Given the description of an element on the screen output the (x, y) to click on. 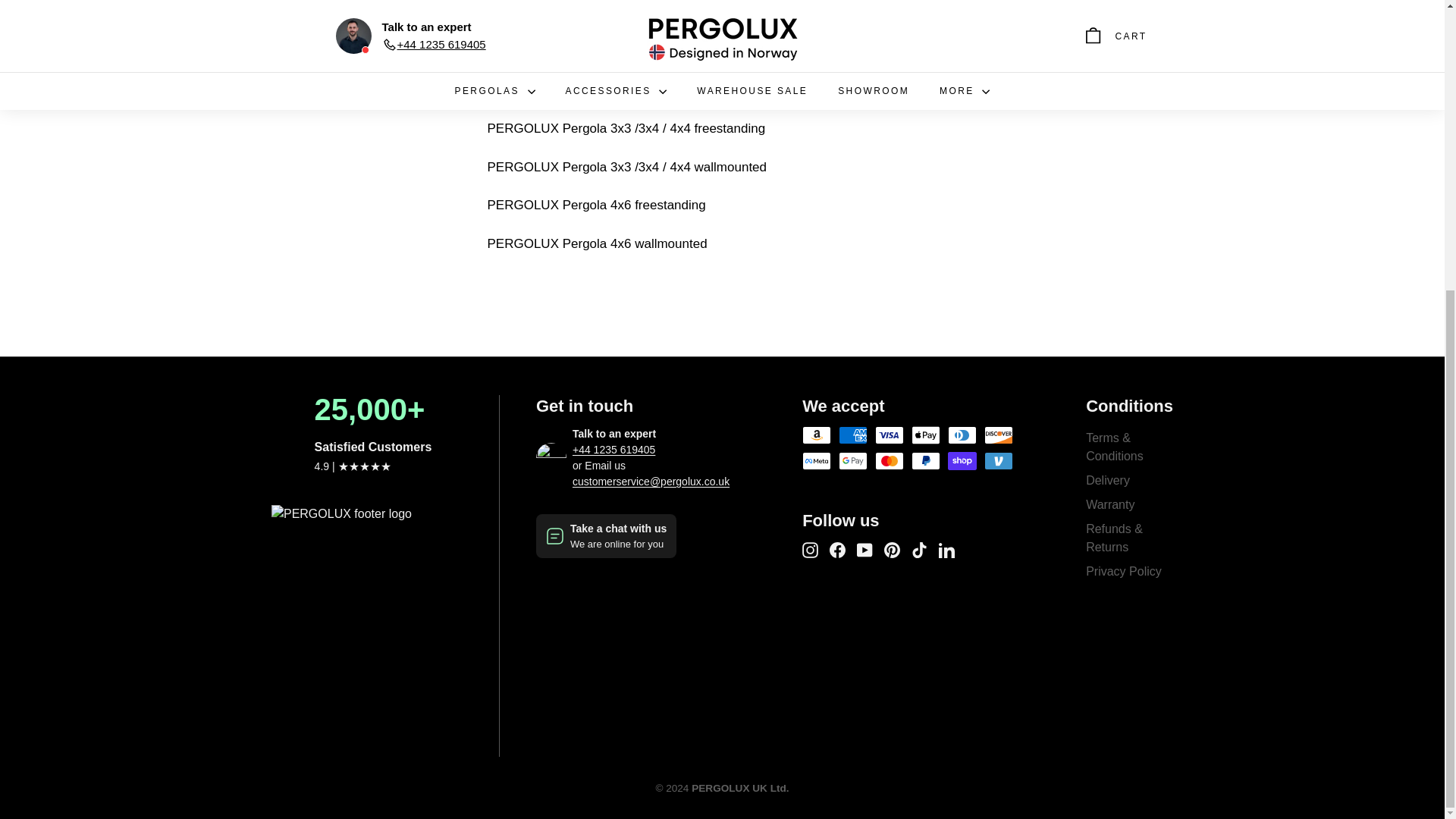
PERGOLUX UK Ltd. on Facebook (837, 549)
PERGOLUX UK Ltd. on LinkedIn (947, 549)
PERGOLUX UK Ltd. on YouTube (864, 549)
PERGOLUX UK Ltd. on TikTok (919, 549)
PERGOLUX UK Ltd. on Instagram (810, 549)
PERGOLUX UK Ltd. on Pinterest (891, 549)
instagram (810, 549)
